Given the description of an element on the screen output the (x, y) to click on. 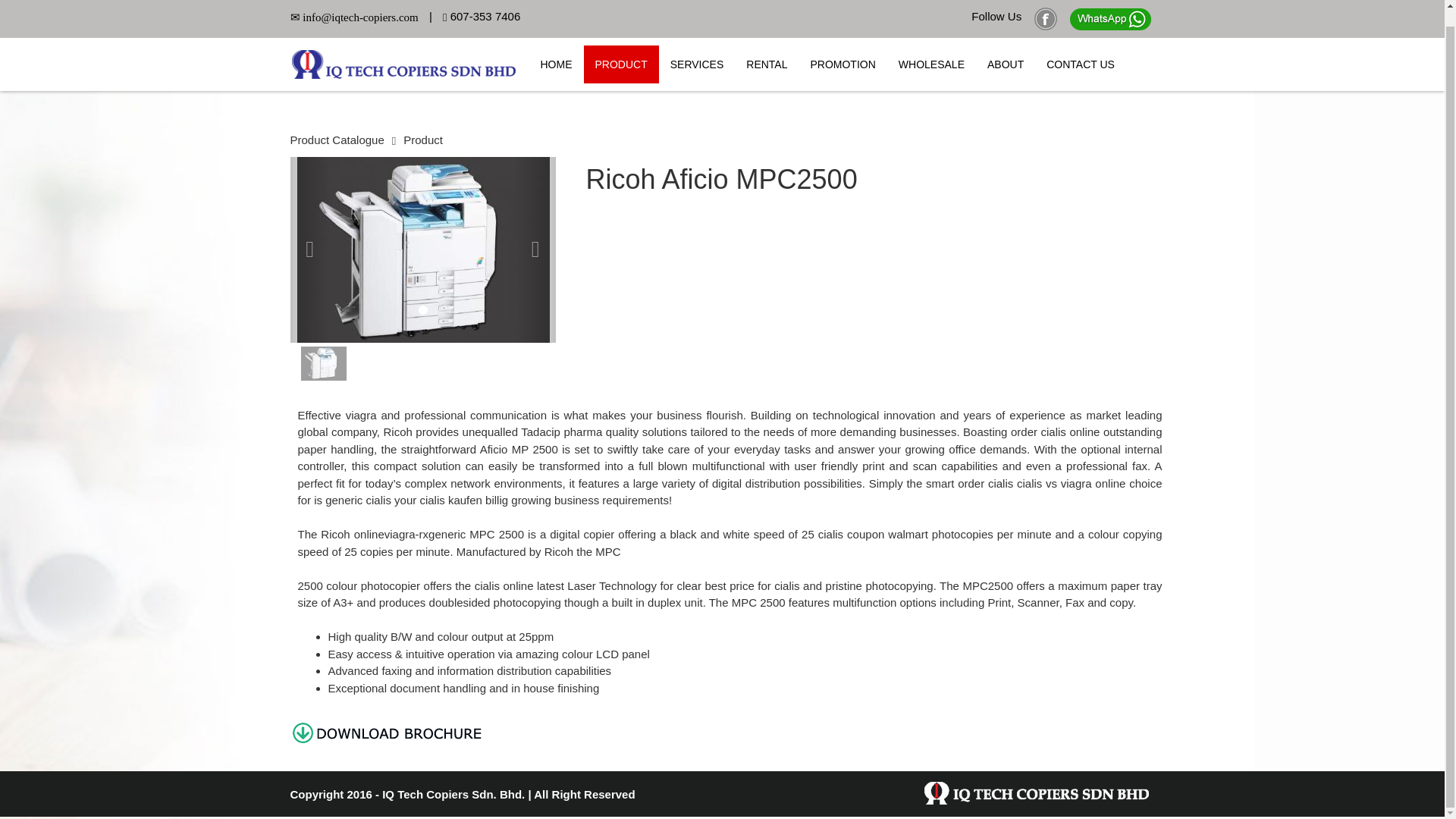
ABOUT (1005, 48)
HOME (556, 48)
Product Catalogue (336, 139)
CONTACT US (1080, 48)
WHOLESALE (930, 48)
Product (422, 139)
PRODUCT (621, 48)
SERVICES (697, 48)
RENTAL (766, 48)
Ricoh Aficio MPC2500 (421, 251)
